Given the description of an element on the screen output the (x, y) to click on. 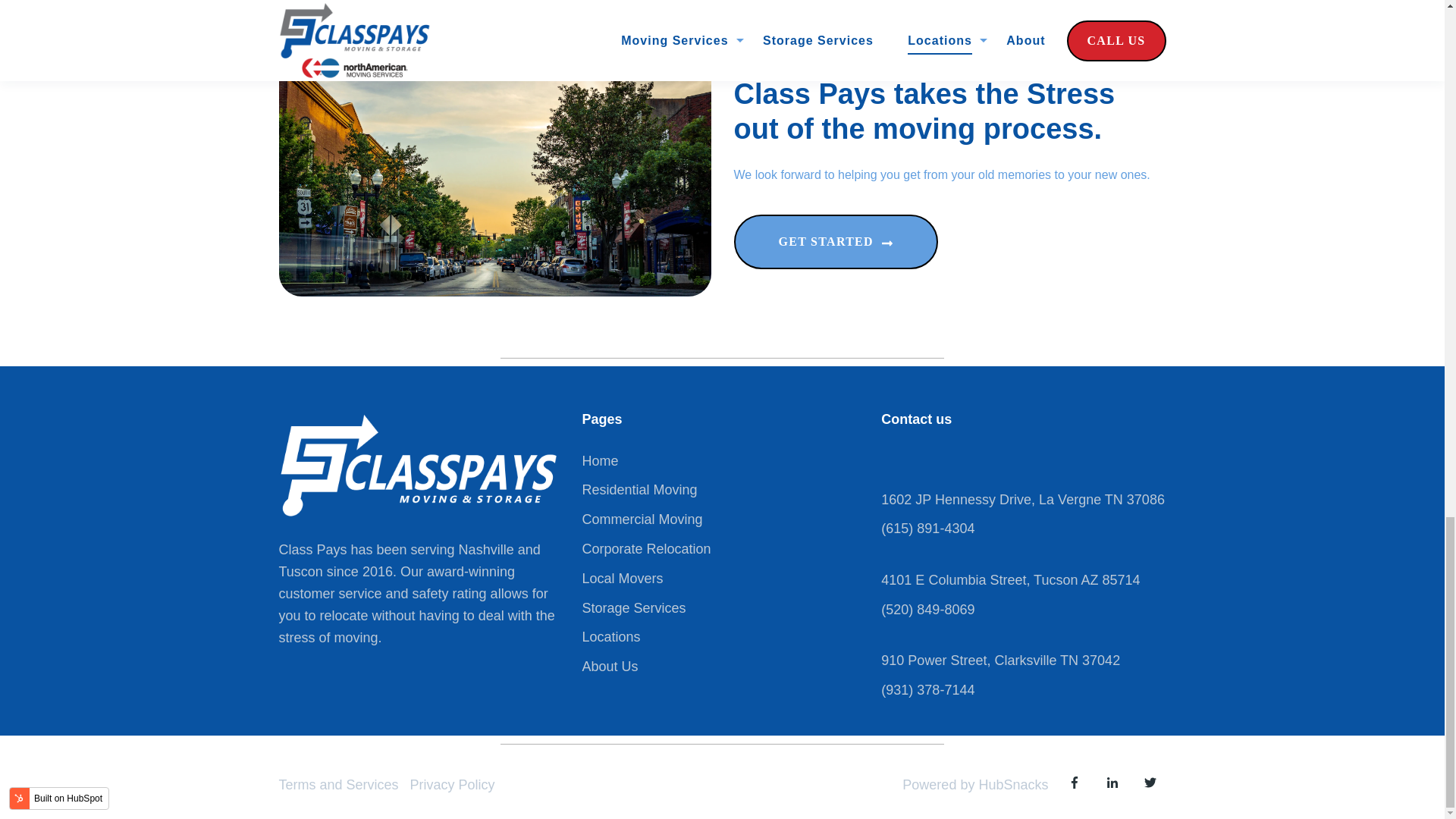
Local Movers (621, 578)
Commercial Moving (640, 519)
GET STARTED (836, 241)
Terms and Services (338, 784)
Untitled design copy 2 (419, 465)
Corporate Relocation (645, 549)
About Us (608, 666)
Locations (610, 636)
Privacy Policy (452, 784)
Storage Services (632, 608)
Residential Moving (638, 490)
910 Power Street, Clarksville TN 37042 (999, 660)
Home (598, 460)
1602 JP Hennessy Drive, La Vergne TN 37086 (1022, 500)
4101 E Columbia Street, Tucson AZ 85714 (1010, 580)
